Given the description of an element on the screen output the (x, y) to click on. 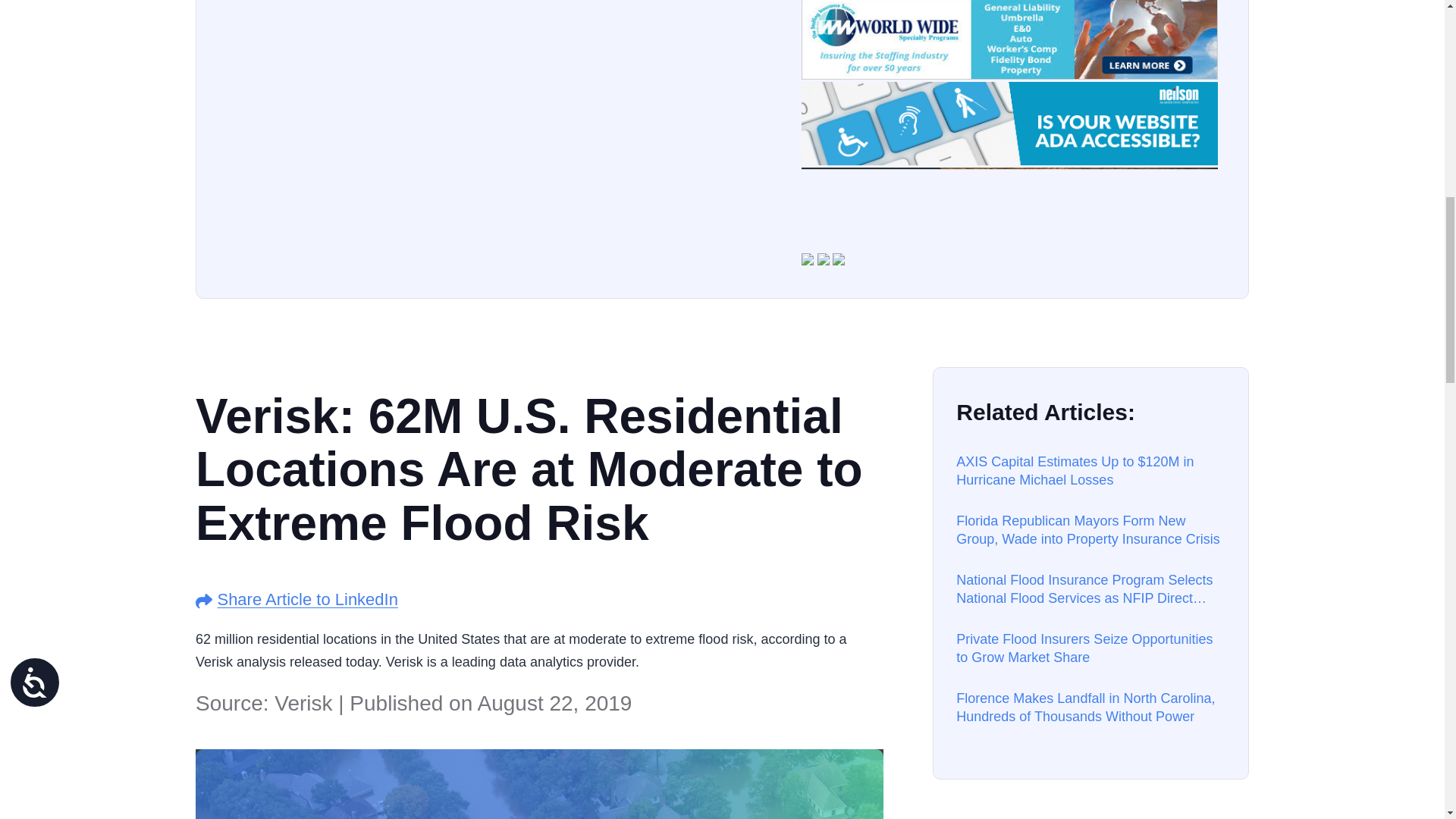
Share Article to LinkedIn (306, 599)
